Given the description of an element on the screen output the (x, y) to click on. 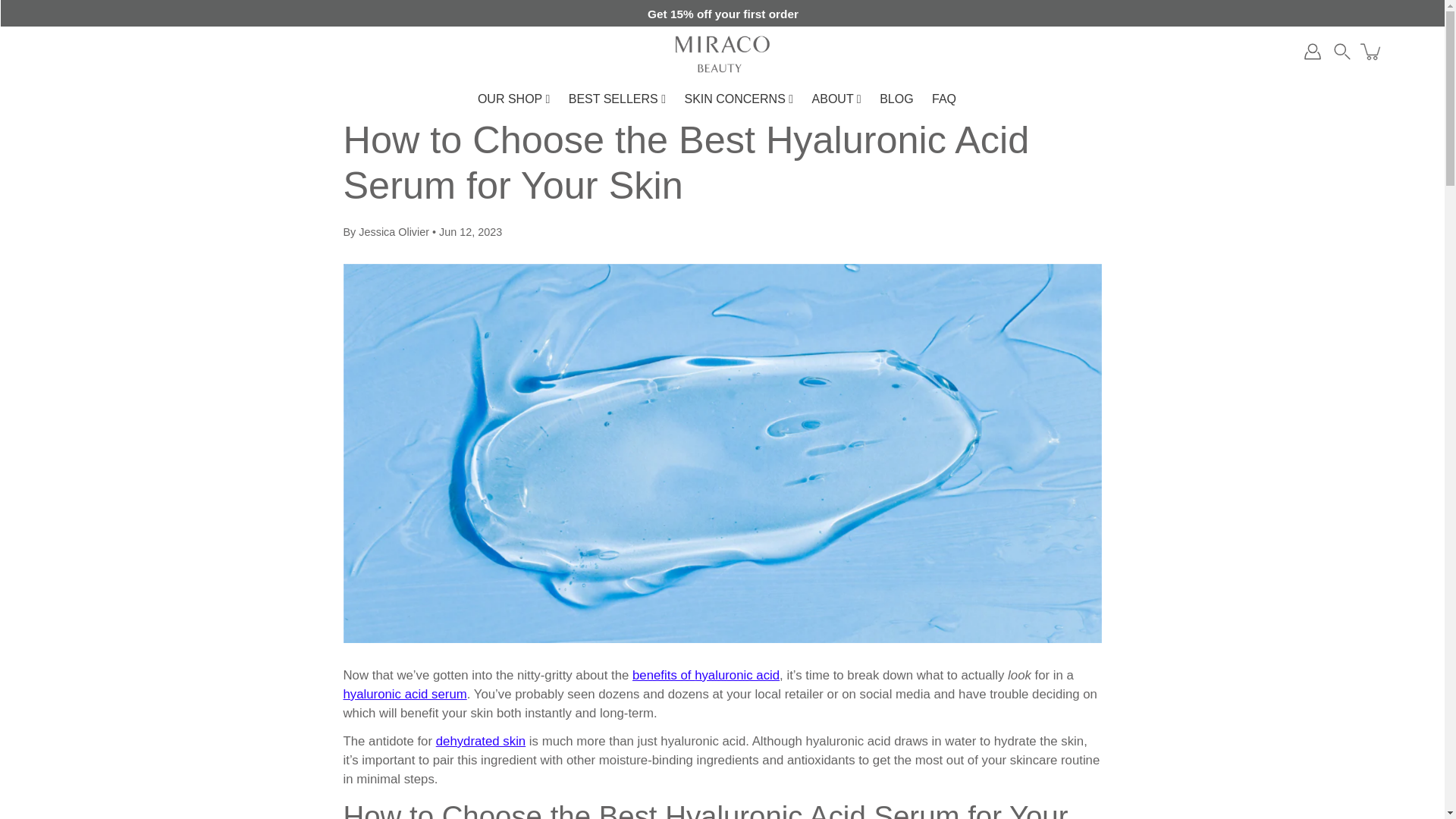
ABOUT (836, 99)
OUR SHOP (513, 99)
Search (1342, 51)
BLOG (895, 99)
BEST SELLERS (617, 99)
SKIN CONCERNS (738, 99)
